Given the description of an element on the screen output the (x, y) to click on. 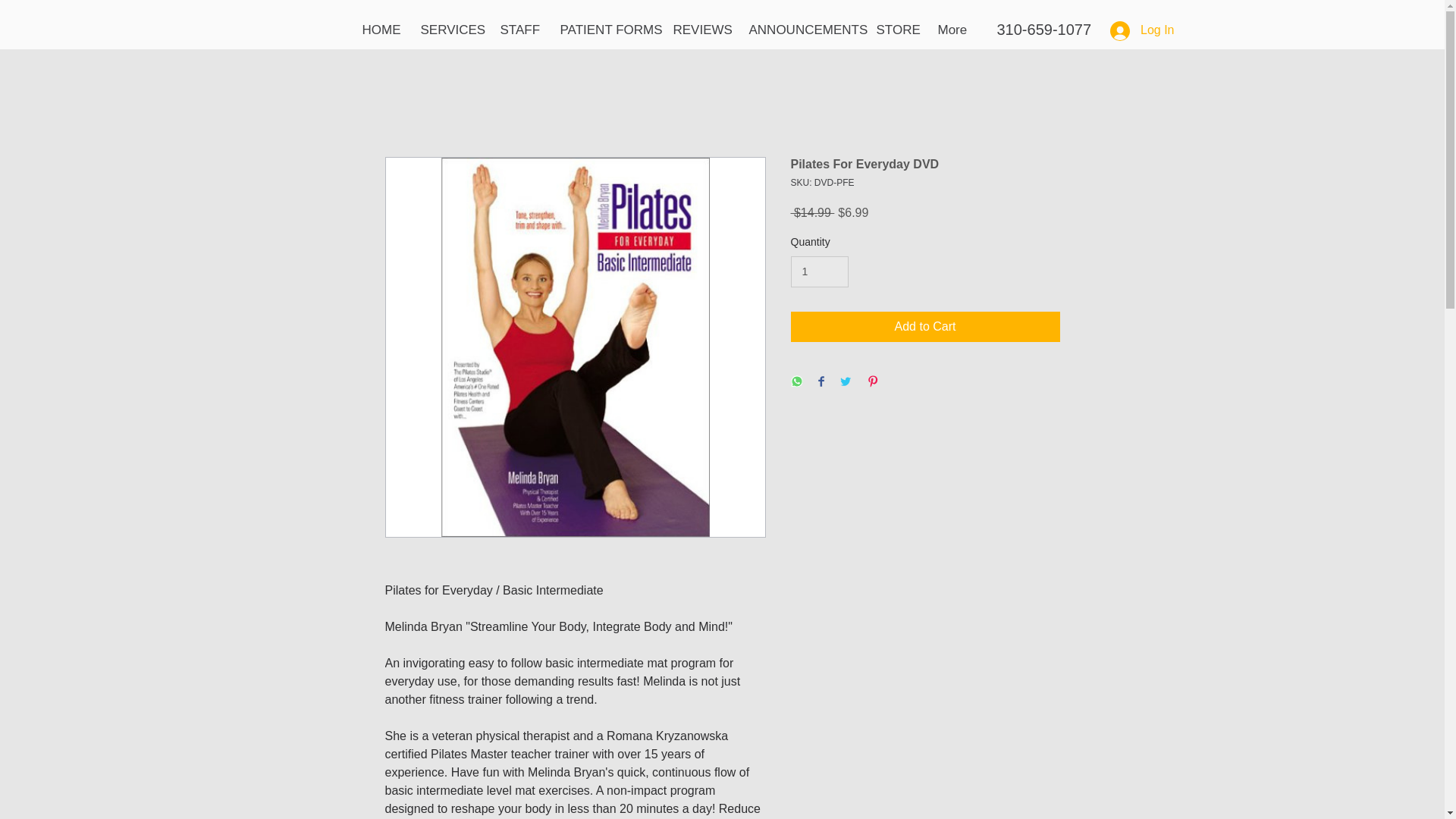
STORE (895, 30)
1 (818, 271)
SERVICES (449, 30)
Add to Cart (924, 327)
REVIEWS (698, 30)
ANNOUNCEMENTS (800, 30)
STAFF (517, 30)
HOME (379, 30)
PATIENT FORMS (605, 30)
Log In (1142, 30)
